Given the description of an element on the screen output the (x, y) to click on. 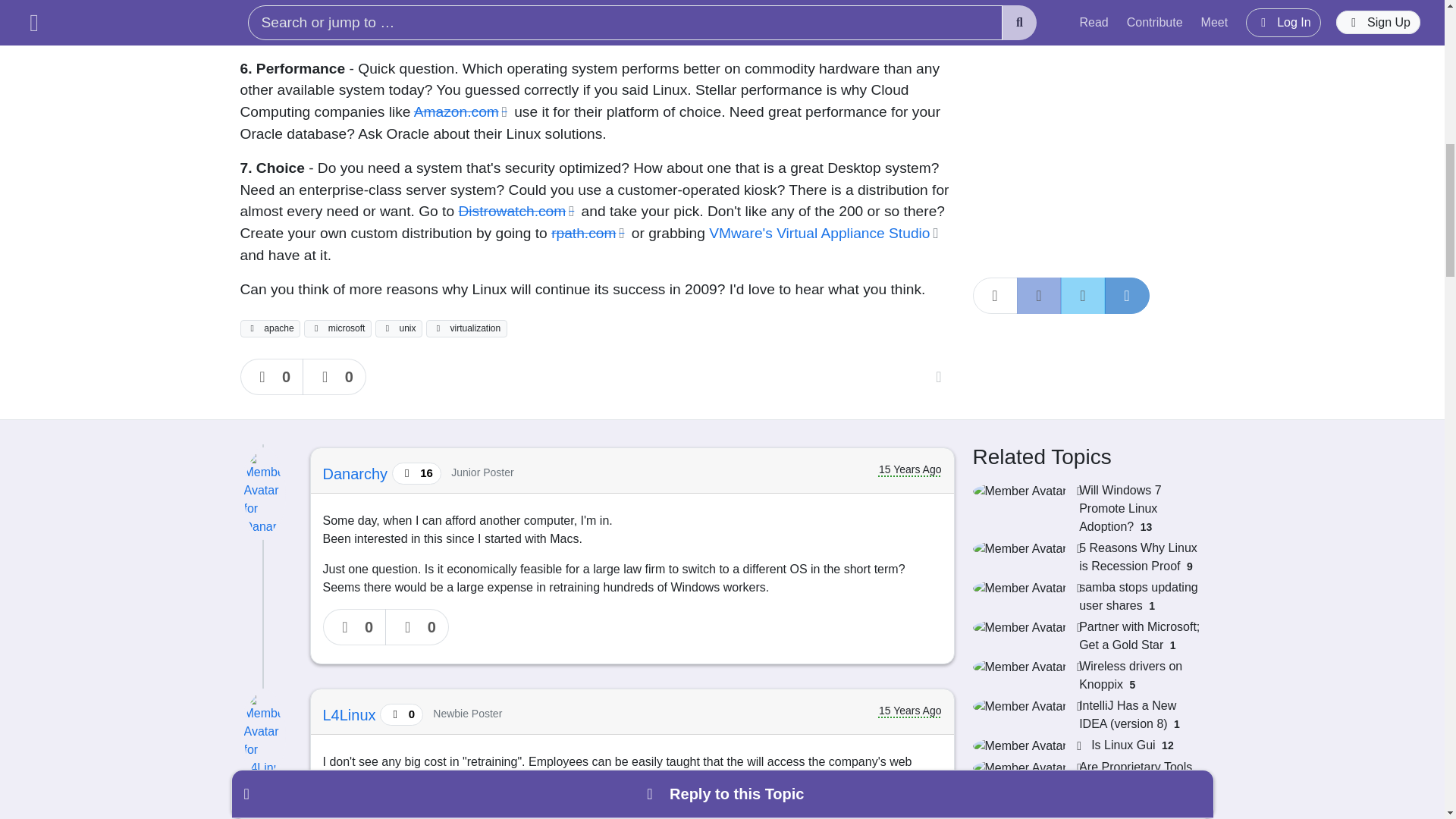
rpath.com (589, 232)
Share (938, 376)
microsoft (337, 328)
0 (334, 376)
Amazon.com (462, 111)
virtualization (466, 328)
VMware's Virtual Appliance Studio (824, 232)
apache (269, 328)
Distrowatch.com (517, 211)
unix (399, 328)
Twitter (1082, 38)
0 (271, 376)
Facebook (1038, 38)
Share (994, 38)
